Given the description of an element on the screen output the (x, y) to click on. 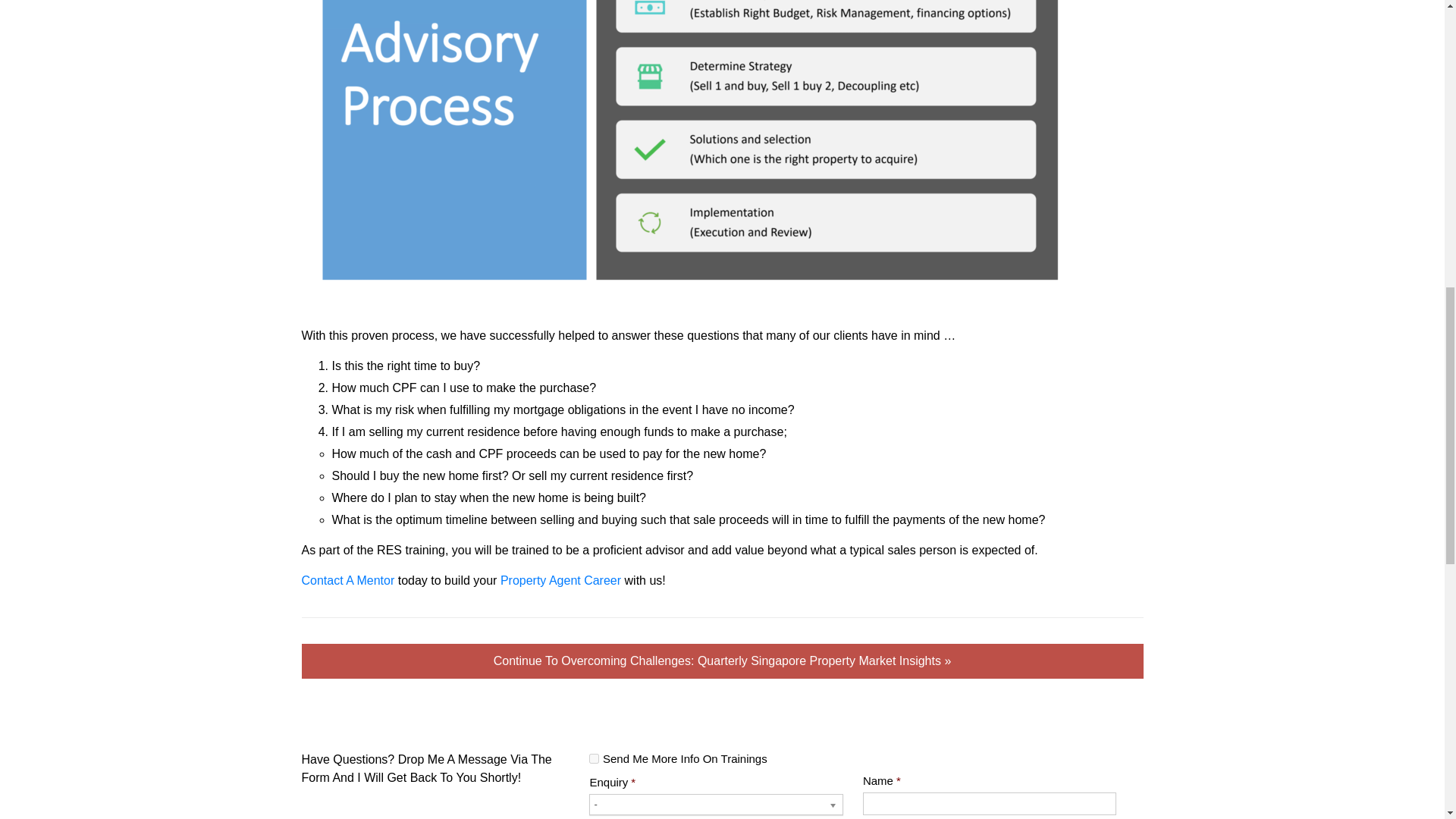
Property Agent Career (560, 579)
- (716, 803)
Contact A Mentor (347, 579)
Yes (593, 758)
